Given the description of an element on the screen output the (x, y) to click on. 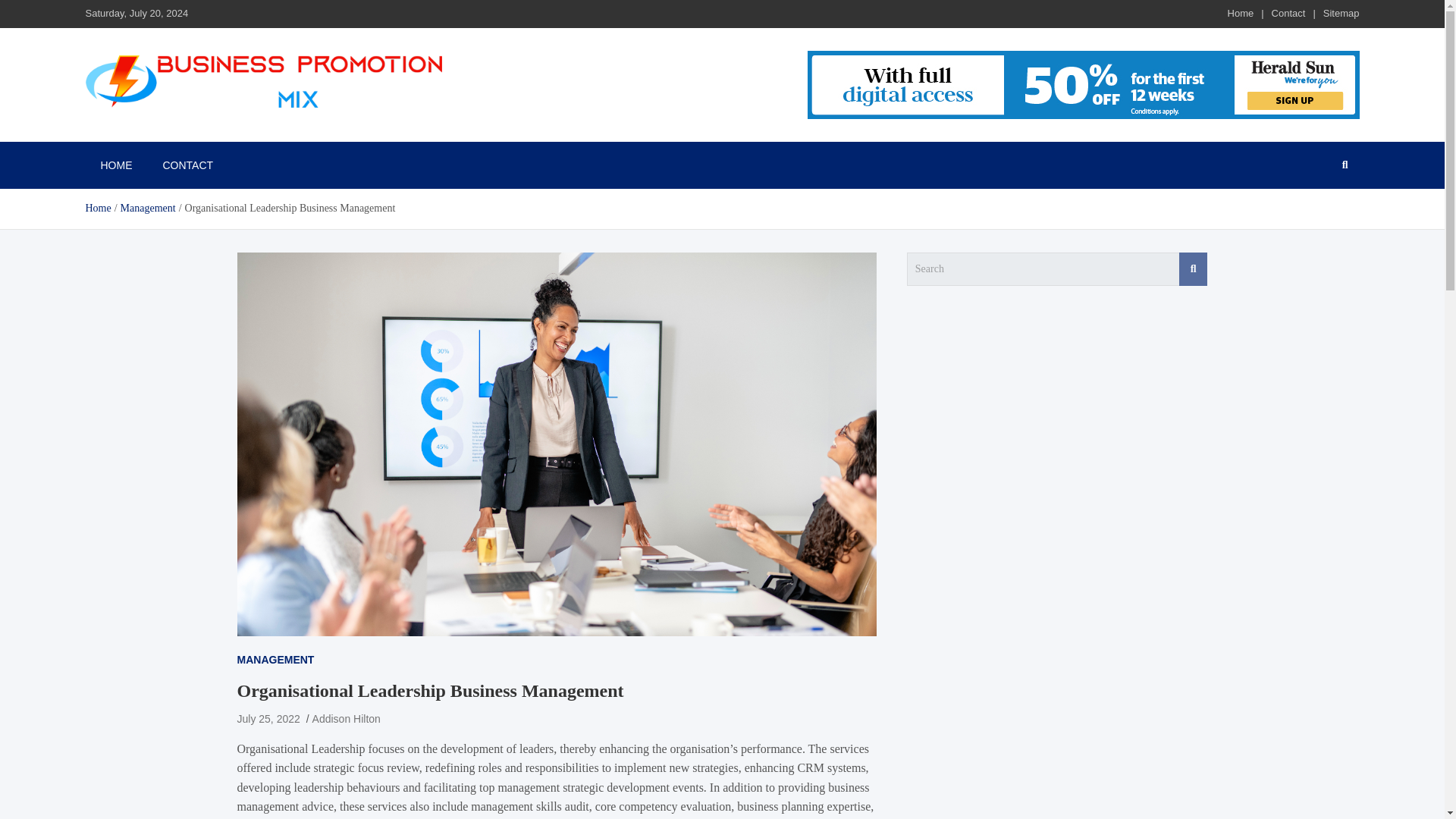
Sitemap (1341, 12)
MANAGEMENT (274, 659)
Home (97, 207)
HOME (115, 165)
Home (1240, 12)
CONTACT (187, 165)
Business Promotion Mix (210, 128)
Management (148, 207)
Organisational Leadership Business Management (267, 718)
July 25, 2022 (267, 718)
Addison Hilton (346, 718)
Contact (1288, 12)
